Given the description of an element on the screen output the (x, y) to click on. 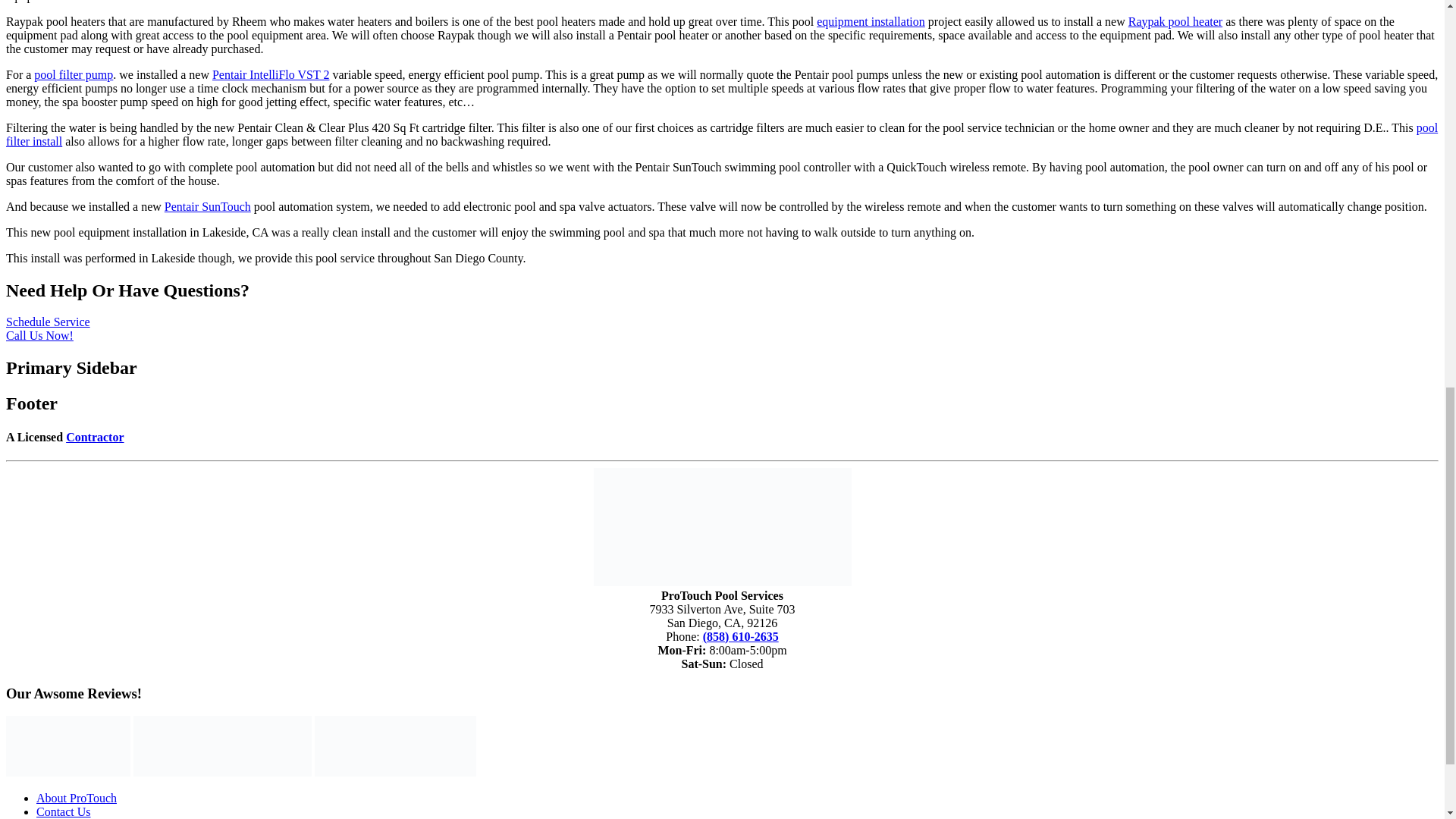
Contractor (94, 436)
pool filter pump (73, 74)
Contact Us (63, 811)
Pentair SunTouch (207, 205)
Schedule Service (47, 321)
Pentair IntelliFlo VST 2 (271, 74)
equipment installation (870, 21)
About ProTouch (76, 797)
Call Us Now! (39, 335)
Raypak pool heater (1175, 21)
